Given the description of an element on the screen output the (x, y) to click on. 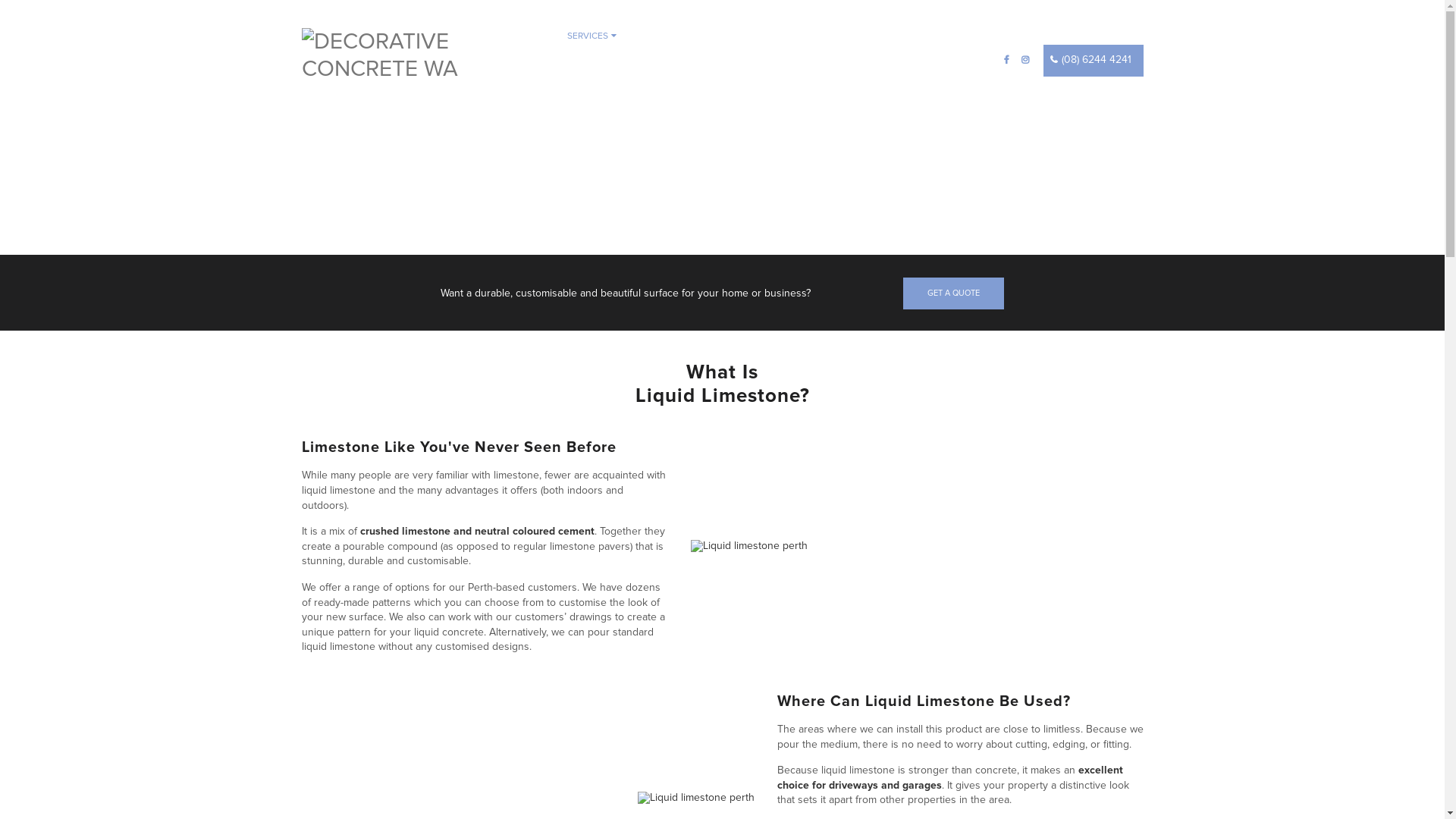
CONCRETE RANGE Element type: text (682, 36)
ABOUT US Element type: text (592, 84)
PAST PROJECTS Element type: text (787, 36)
FAQS Element type: text (864, 36)
(08) 6244 4241 Element type: text (1093, 60)
CONTACT US Element type: text (669, 84)
GET A QUOTE Element type: text (953, 293)
SERVICES Element type: text (591, 36)
BLOG Element type: text (914, 36)
